Given the description of an element on the screen output the (x, y) to click on. 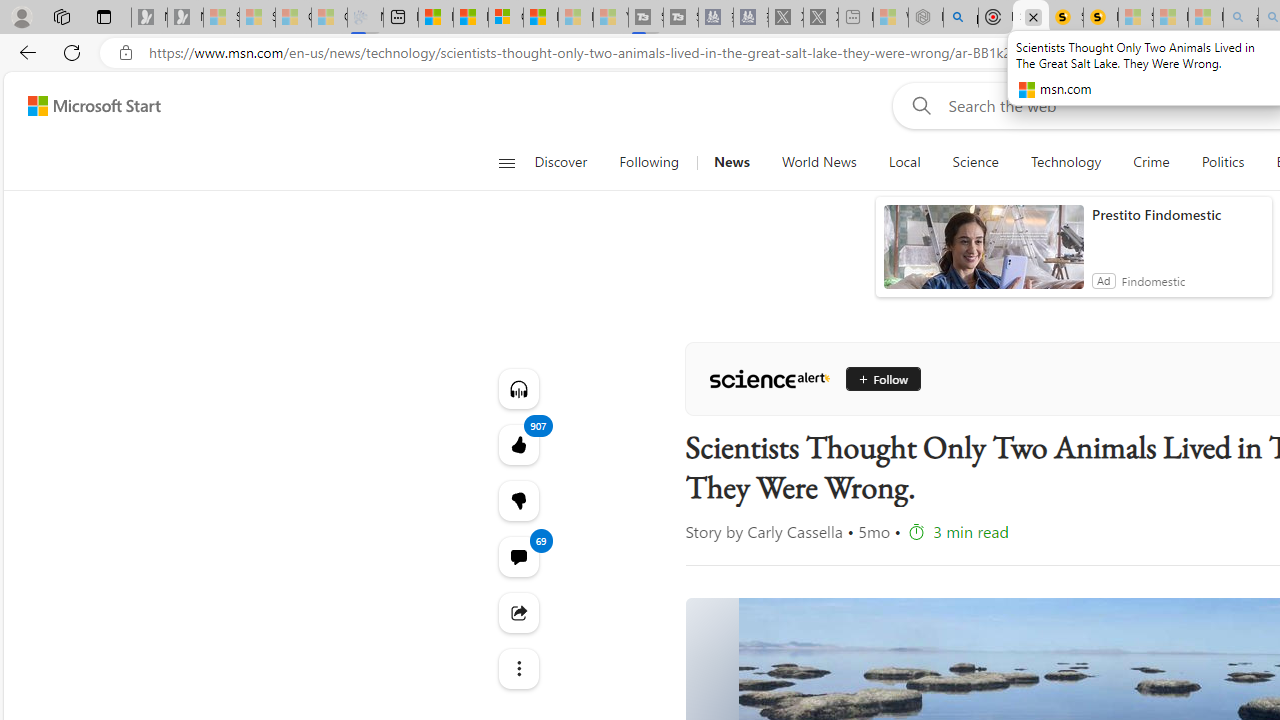
907 Like (517, 444)
Discover (568, 162)
Crime (1151, 162)
Wildlife - MSN - Sleeping (890, 17)
